Given the description of an element on the screen output the (x, y) to click on. 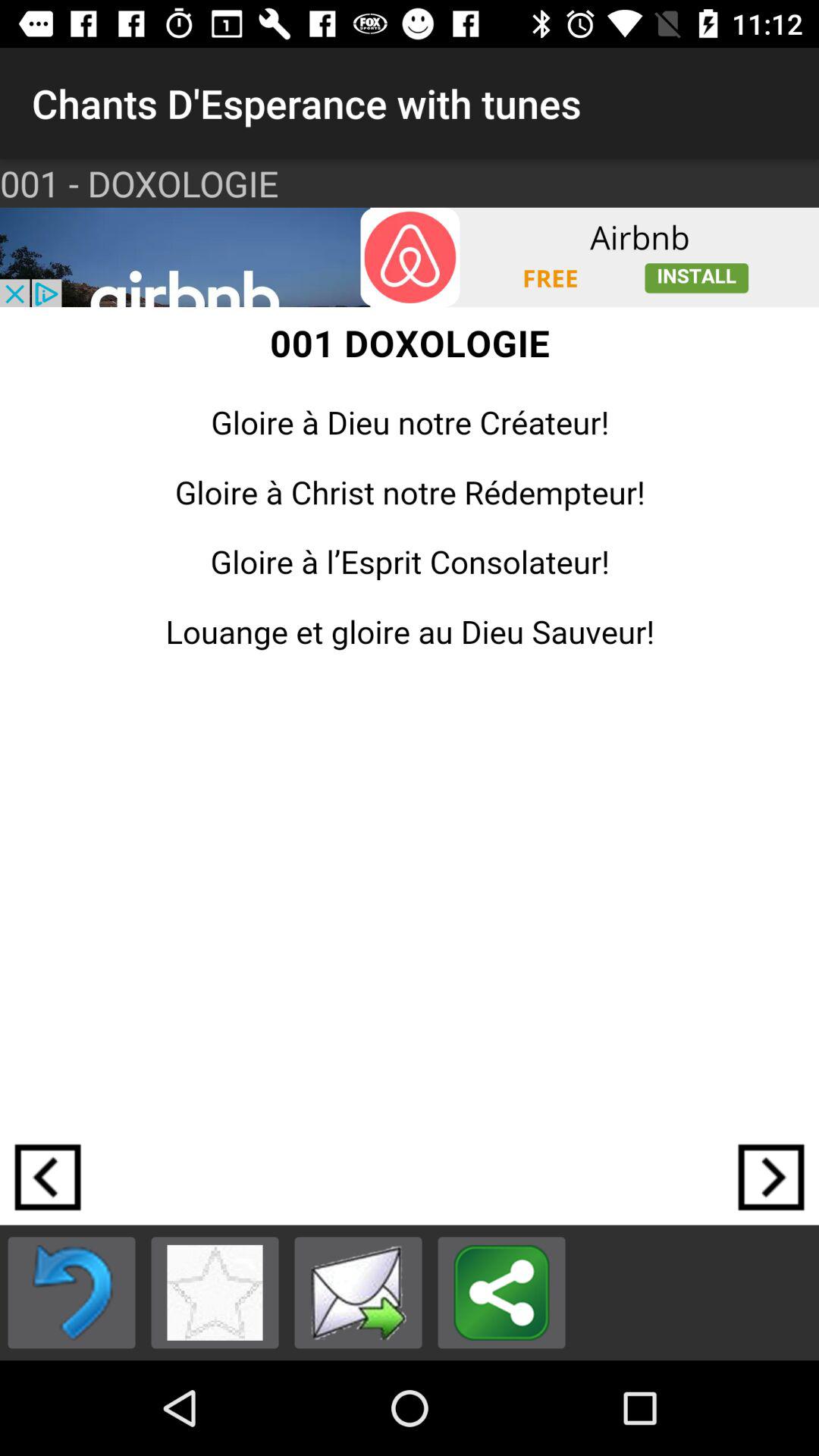
enviar mensagem (357, 1292)
